Given the description of an element on the screen output the (x, y) to click on. 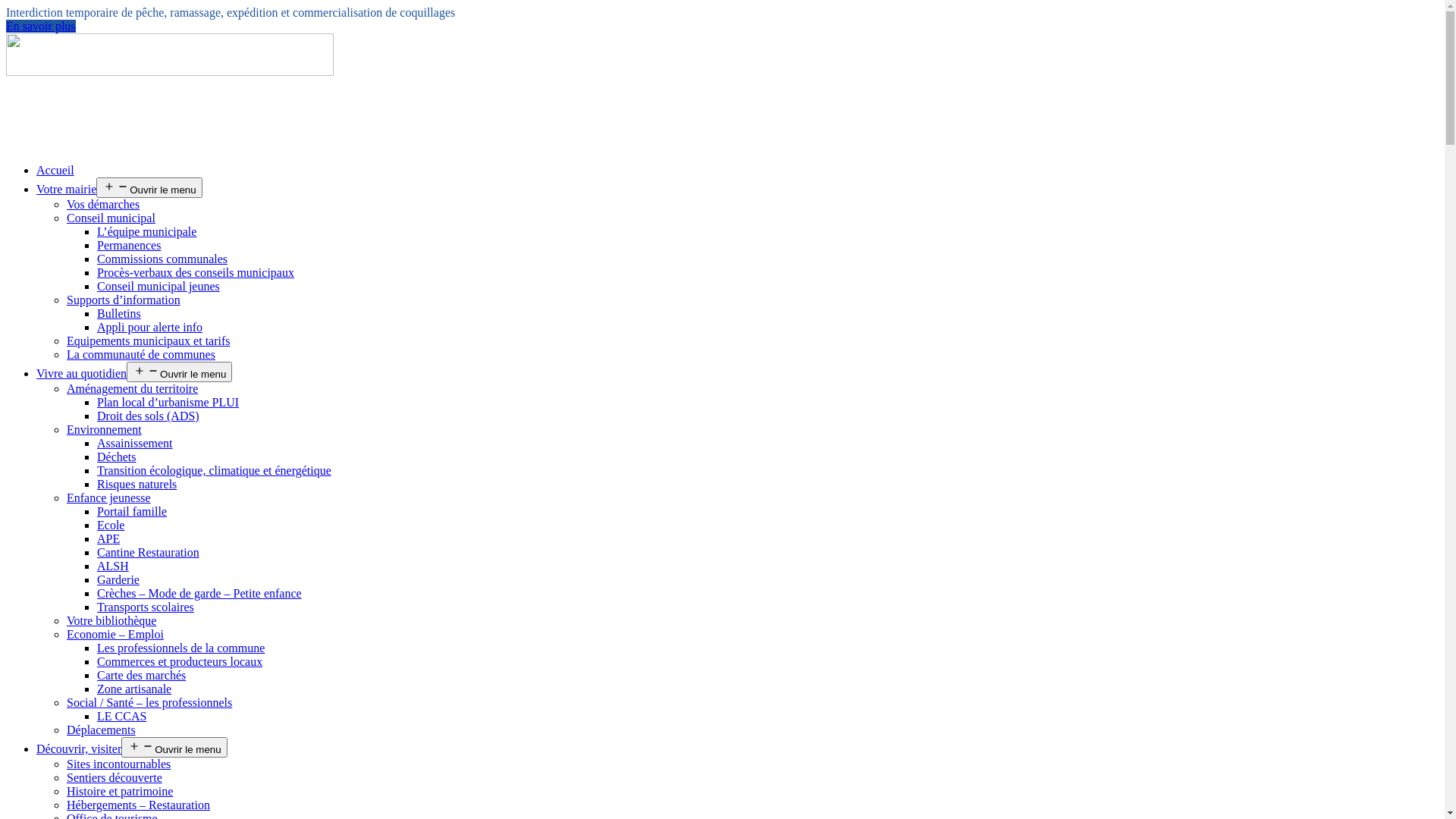
Portail famille Element type: text (131, 511)
ALSH Element type: text (112, 565)
Conseil municipal jeunes Element type: text (158, 285)
Zone artisanale Element type: text (134, 688)
Bulletins Element type: text (119, 313)
Permanences Element type: text (128, 244)
Equipements municipaux et tarifs Element type: text (148, 340)
Conseil municipal Element type: text (110, 217)
Votre mairie Element type: text (66, 188)
Ouvrir le menu Element type: text (179, 371)
Histoire et patrimoine Element type: text (119, 790)
Environnement Element type: text (103, 429)
Vivre au quotidien Element type: text (81, 373)
Commerces et producteurs locaux Element type: text (179, 661)
LE CCAS Element type: text (121, 715)
Ouvrir le menu Element type: text (148, 187)
Transports scolaires Element type: text (145, 606)
Commissions communales Element type: text (162, 258)
Sites incontournables Element type: text (118, 763)
Ecole Element type: text (110, 524)
Accueil Element type: text (55, 169)
Garderie Element type: text (118, 579)
Enfance jeunesse Element type: text (108, 497)
Appli pour alerte info Element type: text (149, 326)
Droit des sols (ADS) Element type: text (148, 415)
Risques naturels Element type: text (136, 483)
En savoir plus Element type: text (40, 25)
Assainissement Element type: text (134, 442)
Cantine Restauration Element type: text (148, 552)
Ouvrir le menu Element type: text (173, 747)
APE Element type: text (108, 538)
Les professionnels de la commune Element type: text (180, 647)
